Given the description of an element on the screen output the (x, y) to click on. 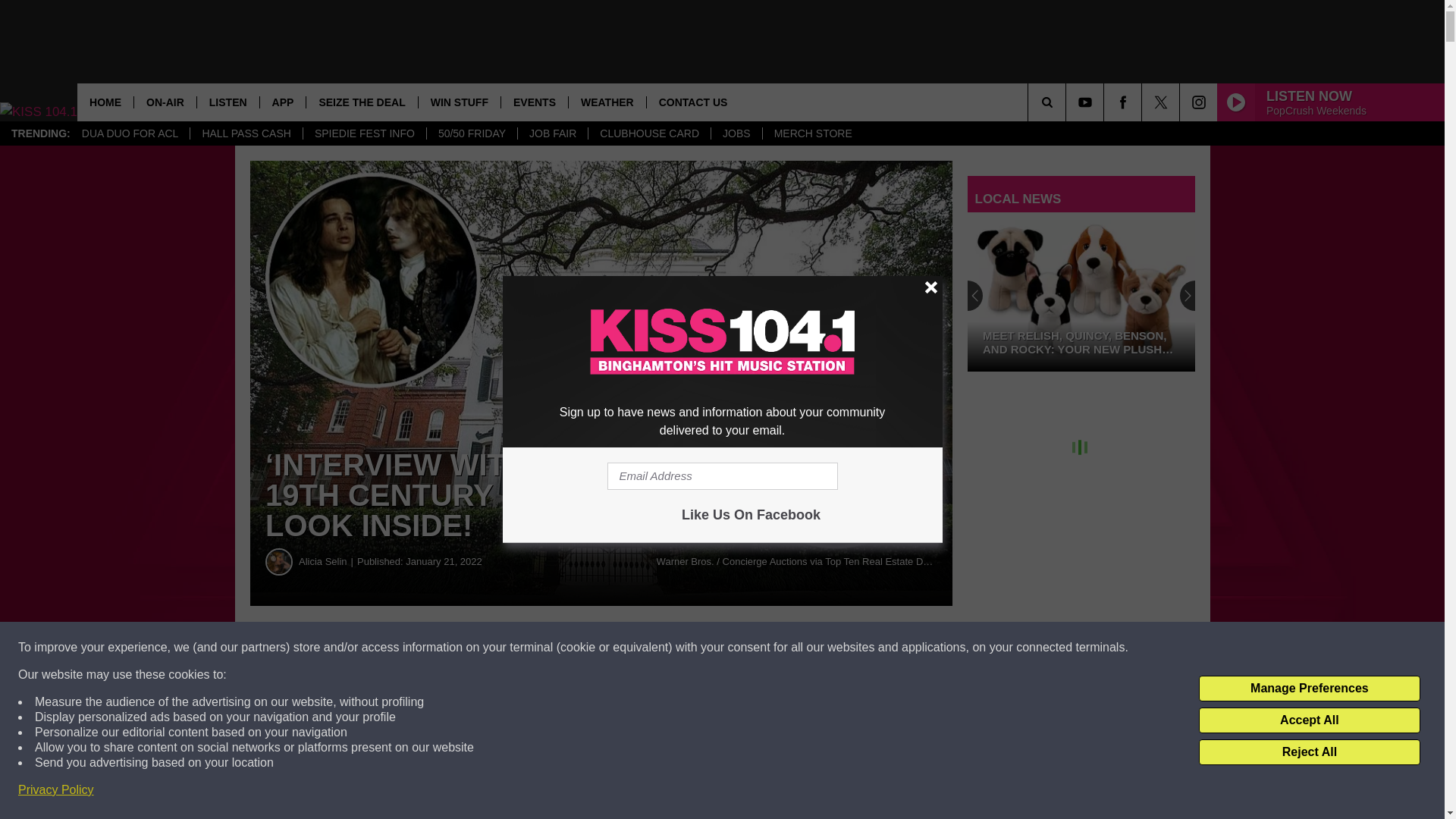
WEATHER (606, 102)
JOB FAIR (552, 133)
WIN STUFF (458, 102)
HALL PASS CASH (245, 133)
ON-AIR (164, 102)
Email Address (722, 475)
HOME (105, 102)
SEIZE THE DEAL (360, 102)
Accept All (1309, 720)
CLUBHOUSE CARD (649, 133)
EVENTS (533, 102)
Reject All (1309, 751)
APP (282, 102)
MERCH STORE (812, 133)
SPIEDIE FEST INFO (364, 133)
